Given the description of an element on the screen output the (x, y) to click on. 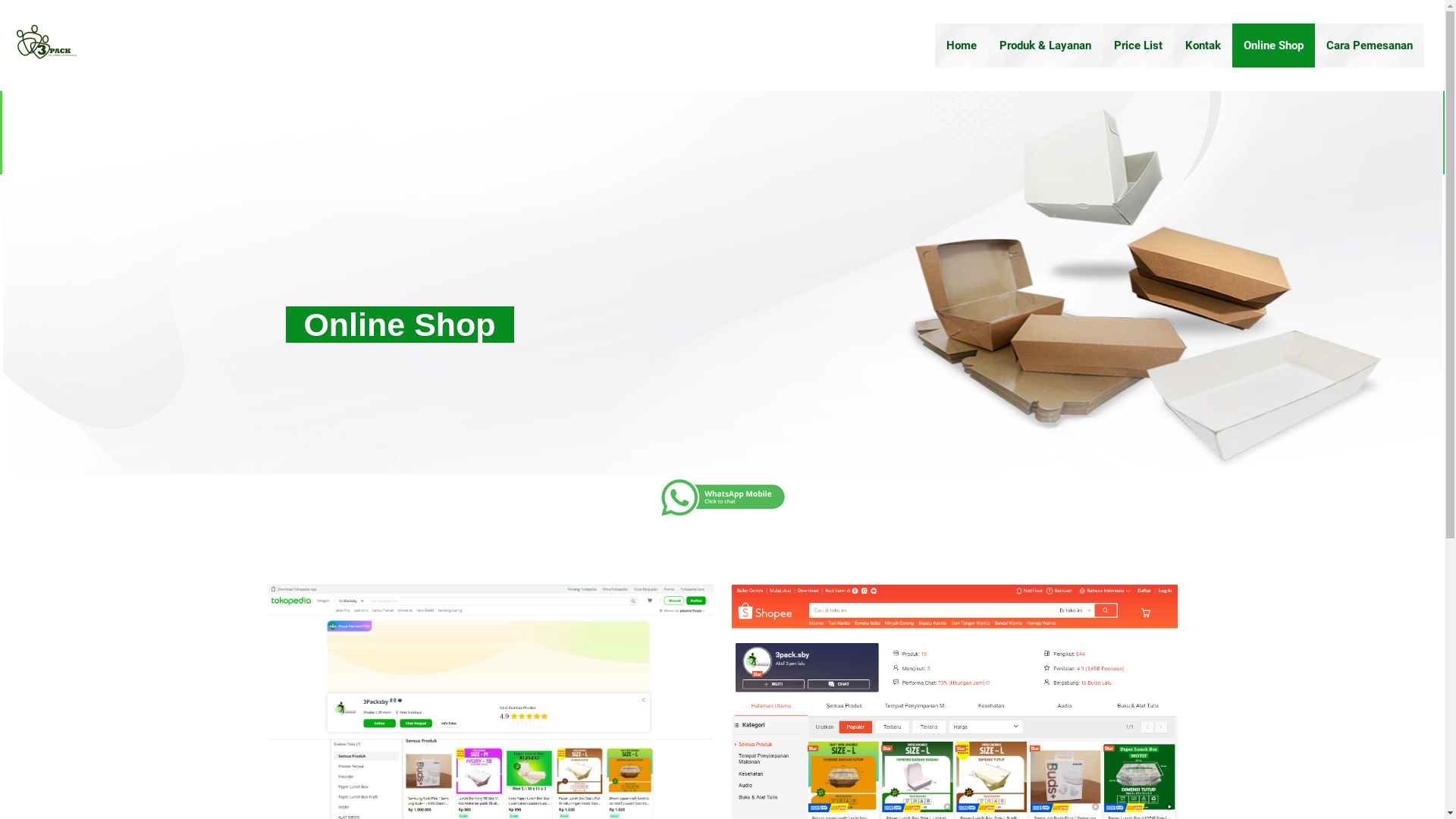
Price List Element type: text (1137, 45)
Produk & Layanan Element type: text (1045, 45)
Cara Pemesanan Element type: text (1369, 45)
Kontak Element type: text (1202, 45)
Online Shop Element type: text (1273, 45)
Home Element type: text (961, 45)
